Given the description of an element on the screen output the (x, y) to click on. 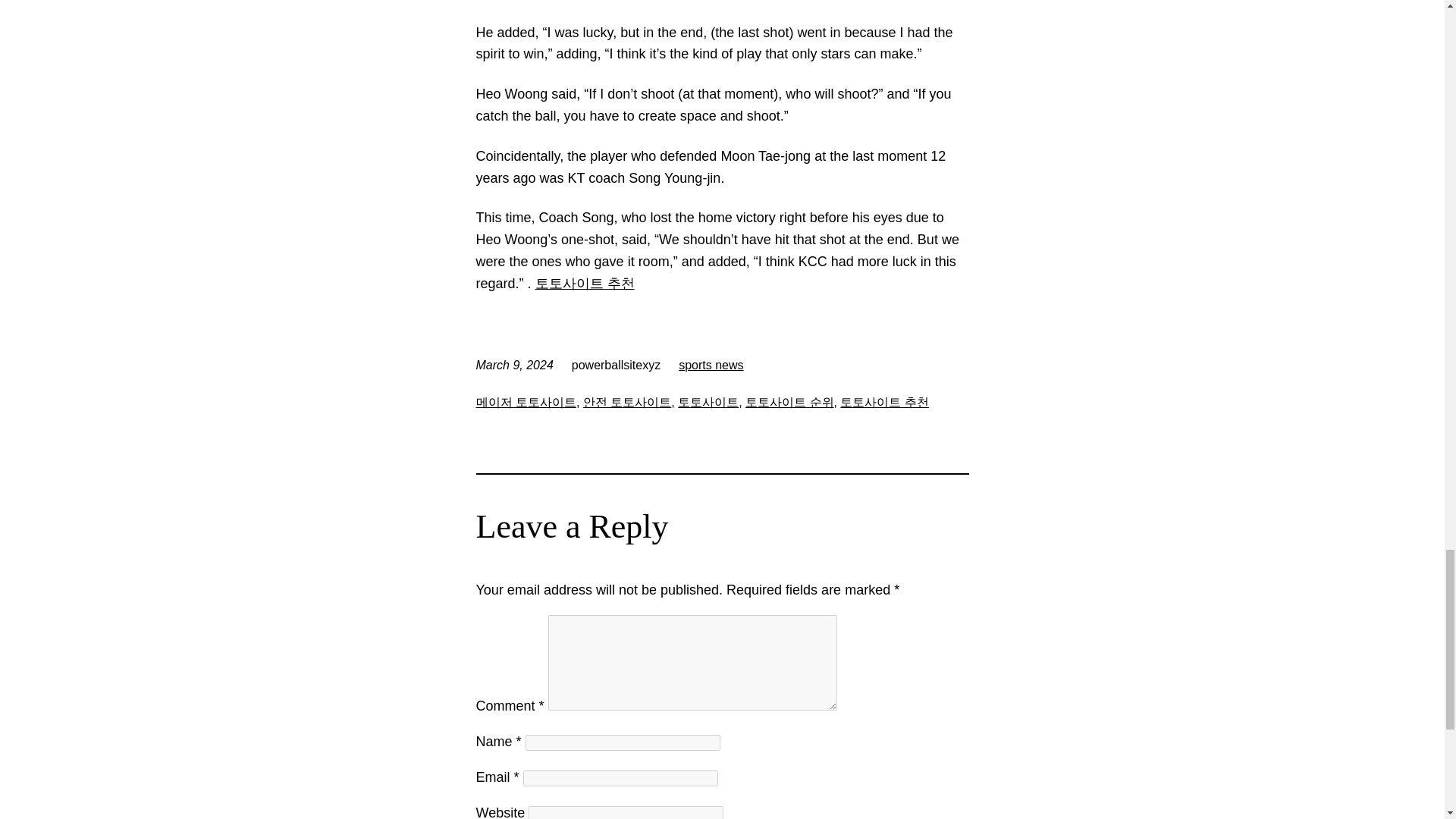
sports news (710, 364)
